Given the description of an element on the screen output the (x, y) to click on. 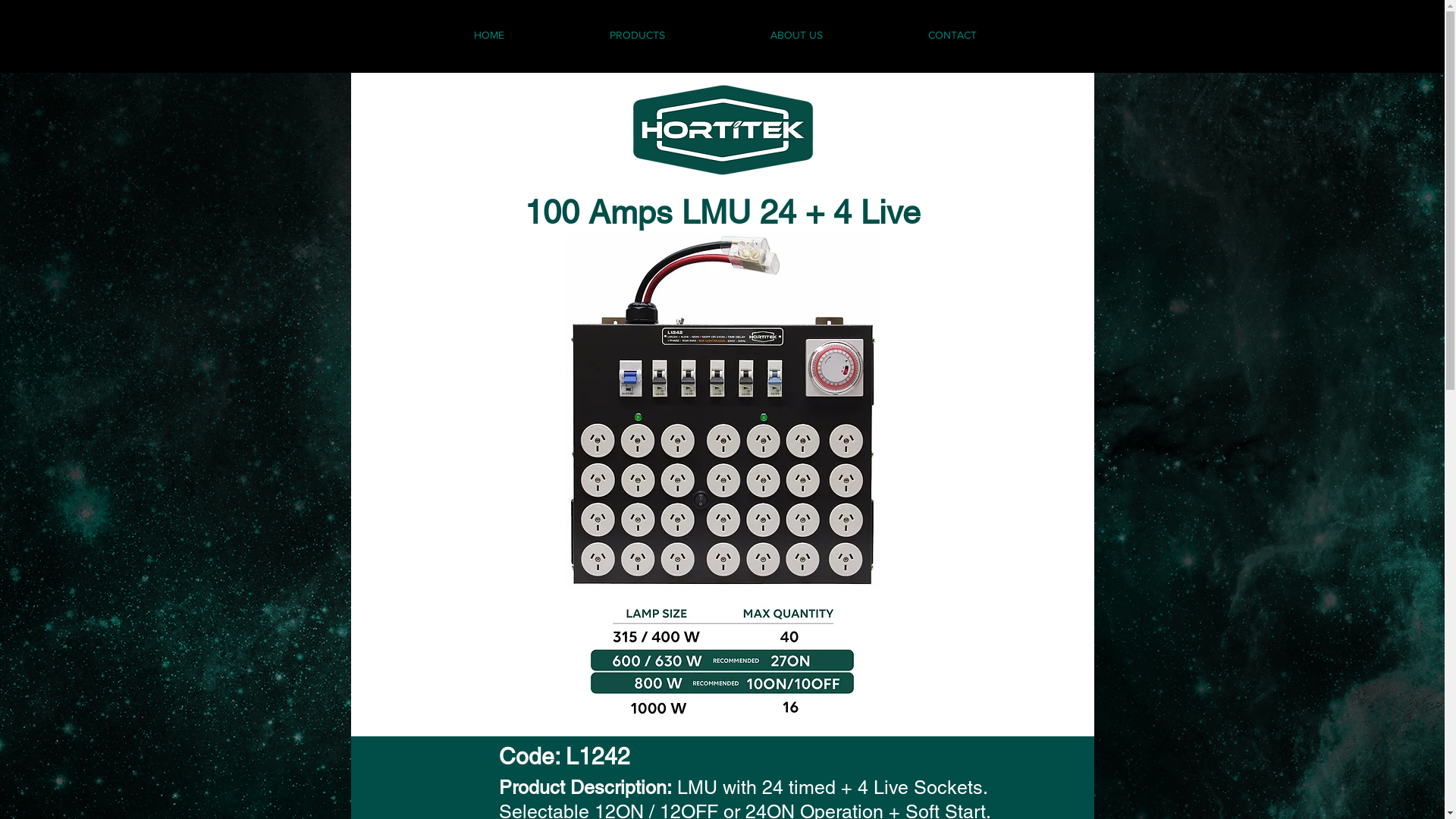
PRODUCTS Element type: text (636, 35)
CONTACT Element type: text (952, 35)
HOME Element type: text (489, 35)
ABOUT US Element type: text (796, 35)
